Given the description of an element on the screen output the (x, y) to click on. 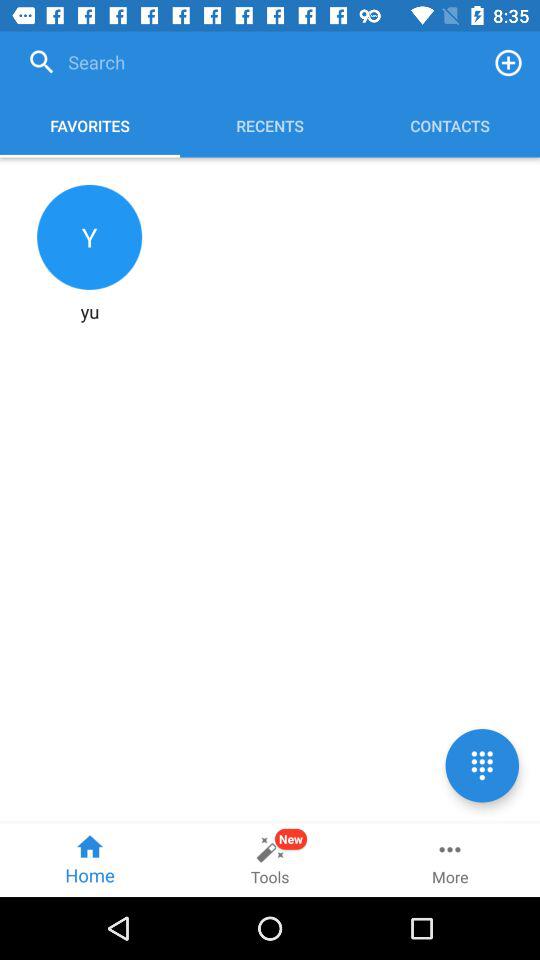
add a new contact (508, 62)
